Given the description of an element on the screen output the (x, y) to click on. 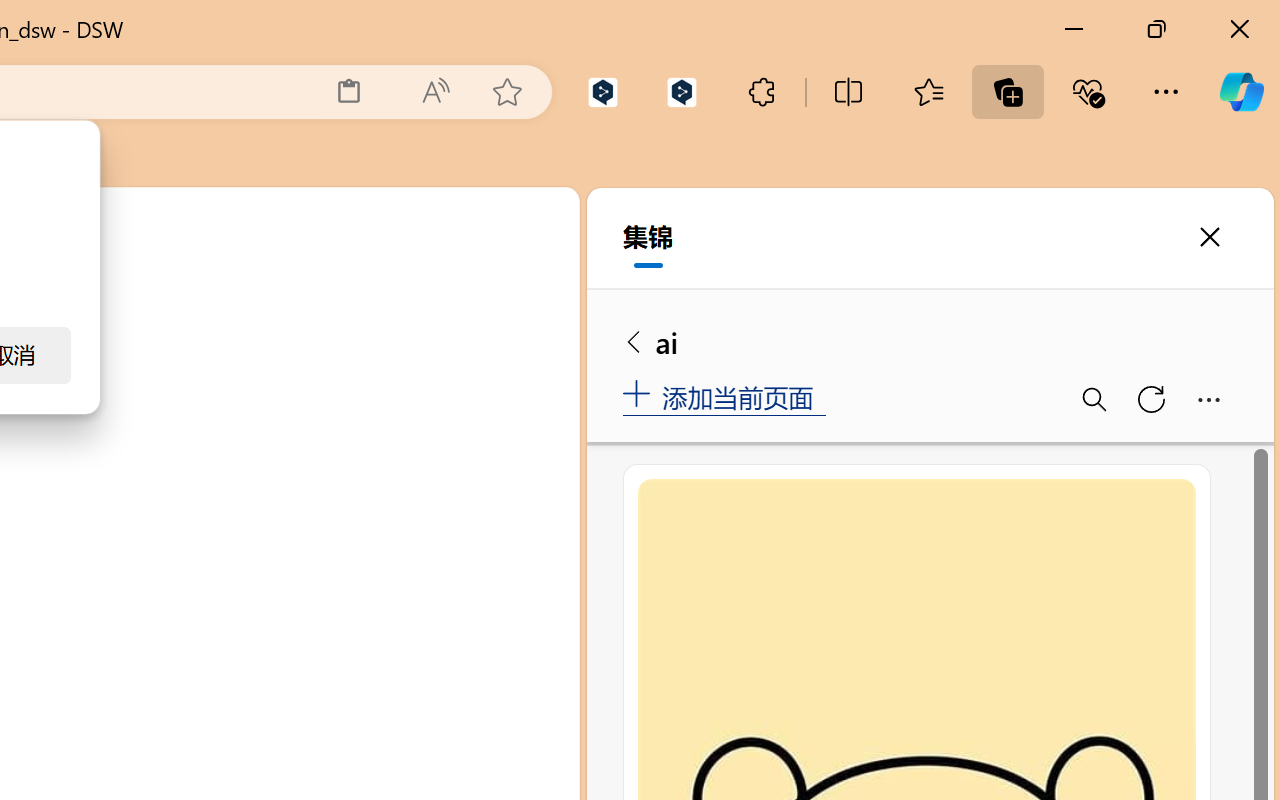
Close Panel (535, 357)
icon (436, 224)
Class: next-menu next-hoz widgets--iconMenu--BFkiHRM (436, 225)
Terminal 2 bash (470, 448)
Launch Profile... (401, 357)
Toggle Panel (Ctrl+J) (461, 294)
